Given the description of an element on the screen output the (x, y) to click on. 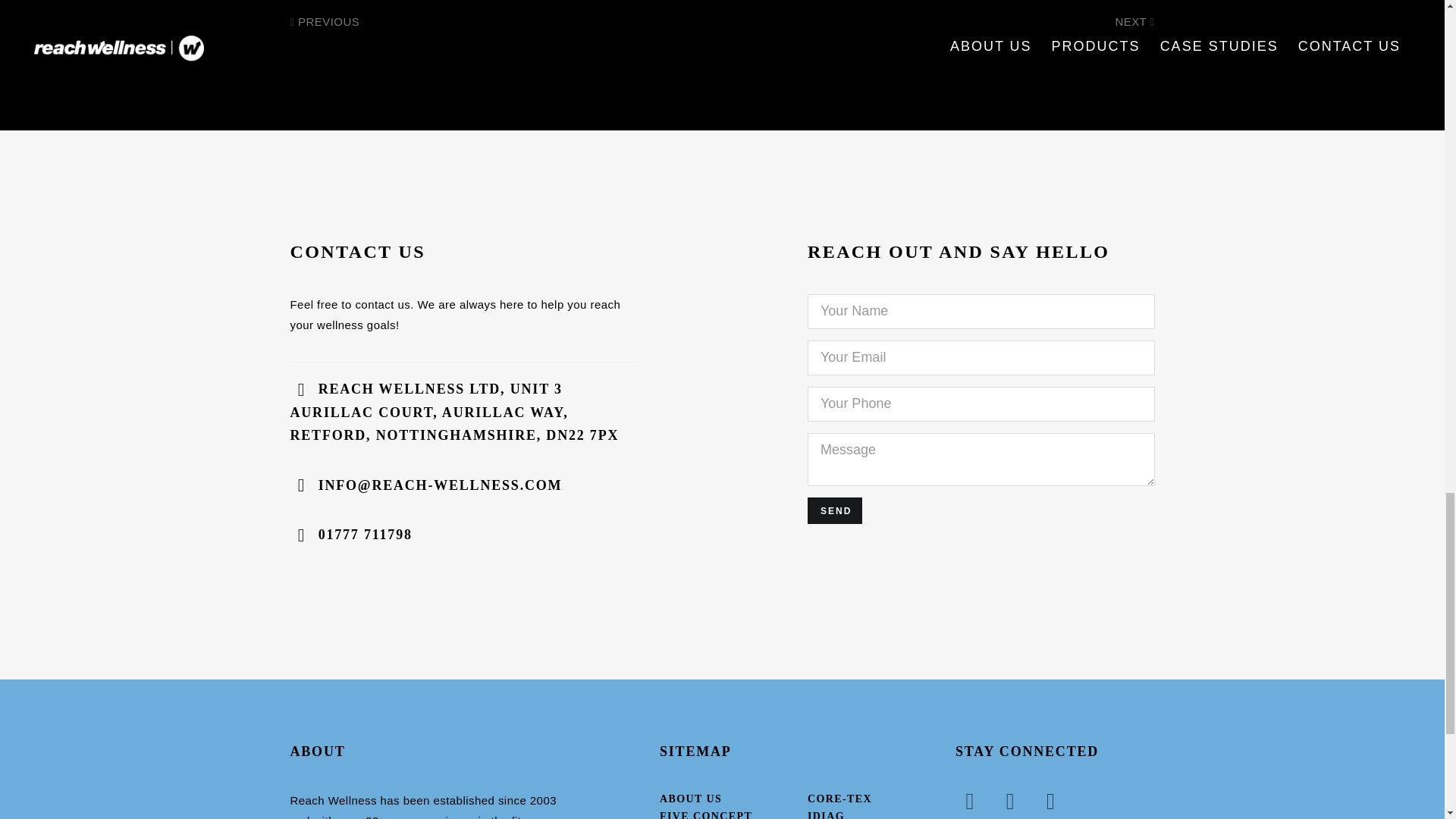
IDIAG (826, 814)
FIVE CONCEPT (705, 814)
SEND (834, 510)
ABOUT US (690, 798)
PREVIOUS (324, 27)
CORE-TEX (840, 798)
